Given the description of an element on the screen output the (x, y) to click on. 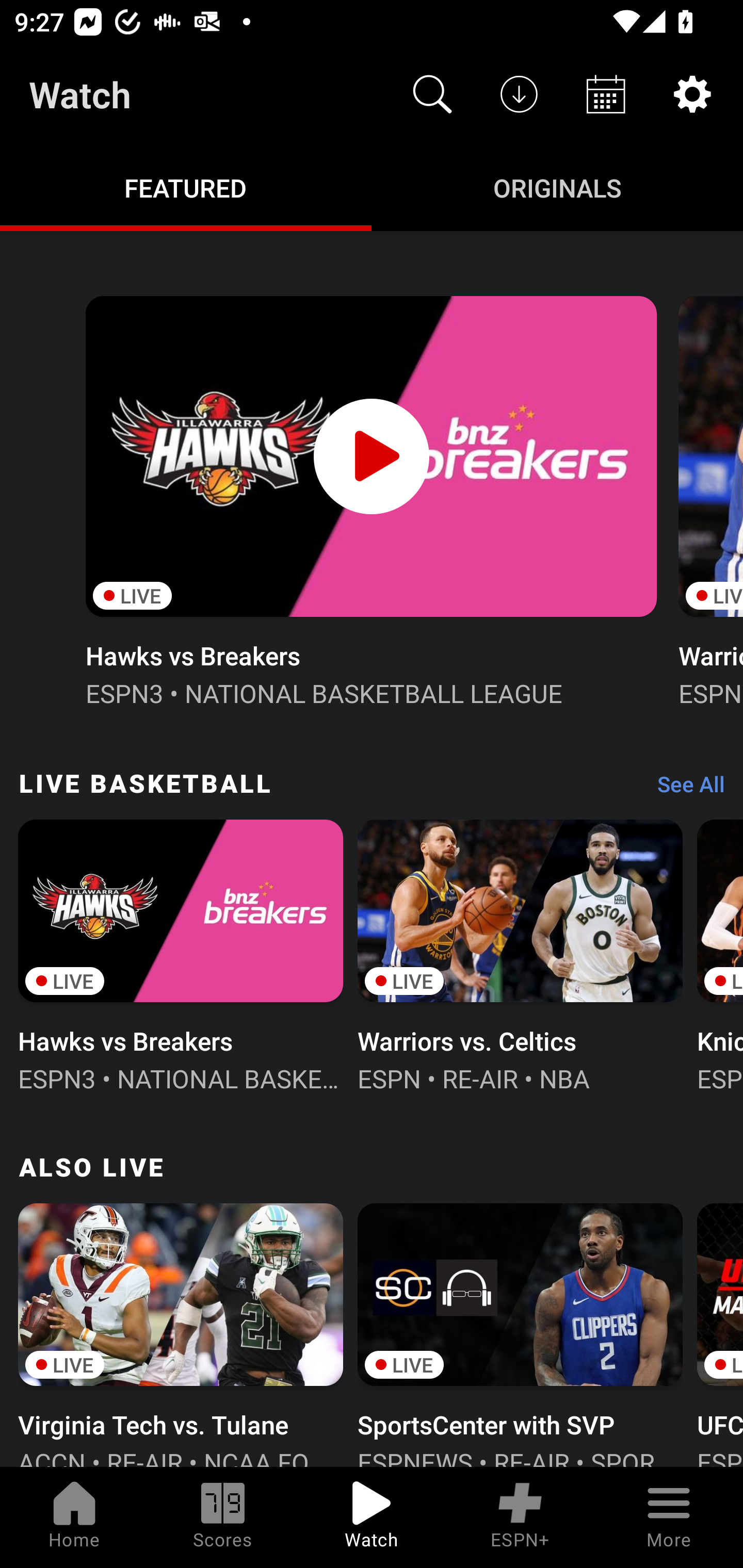
Search (432, 93)
Downloads (518, 93)
Schedule (605, 93)
Settings (692, 93)
Originals ORIGINALS (557, 187)
See All (683, 788)
LIVE Warriors vs. Celtics ESPN • RE-AIR • NBA (519, 954)
Home (74, 1517)
Scores (222, 1517)
ESPN+ (519, 1517)
More (668, 1517)
